Given the description of an element on the screen output the (x, y) to click on. 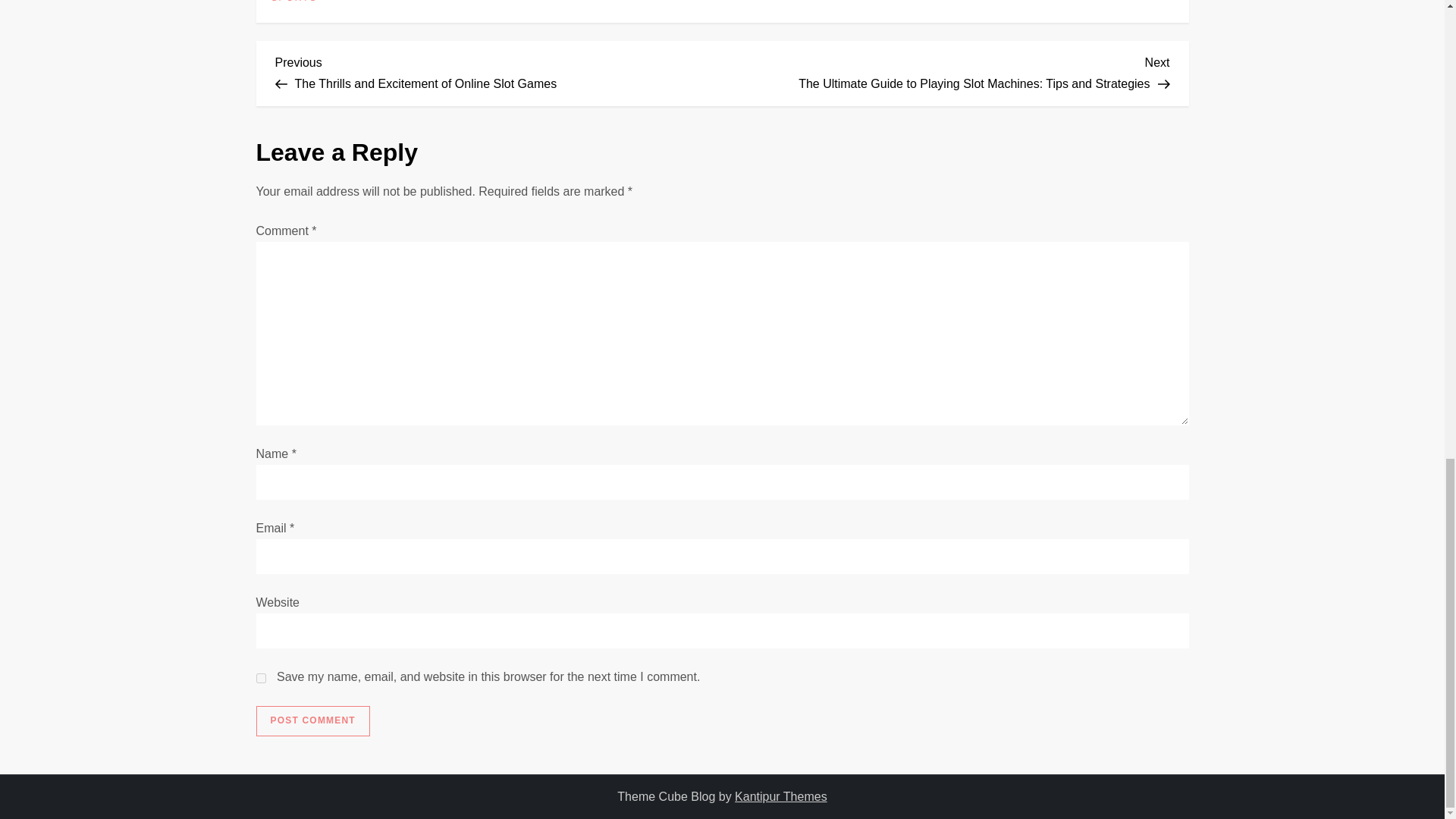
Kantipur Themes (781, 796)
SPORTS (293, 2)
Post Comment (312, 720)
yes (261, 678)
Post Comment (312, 720)
